Given the description of an element on the screen output the (x, y) to click on. 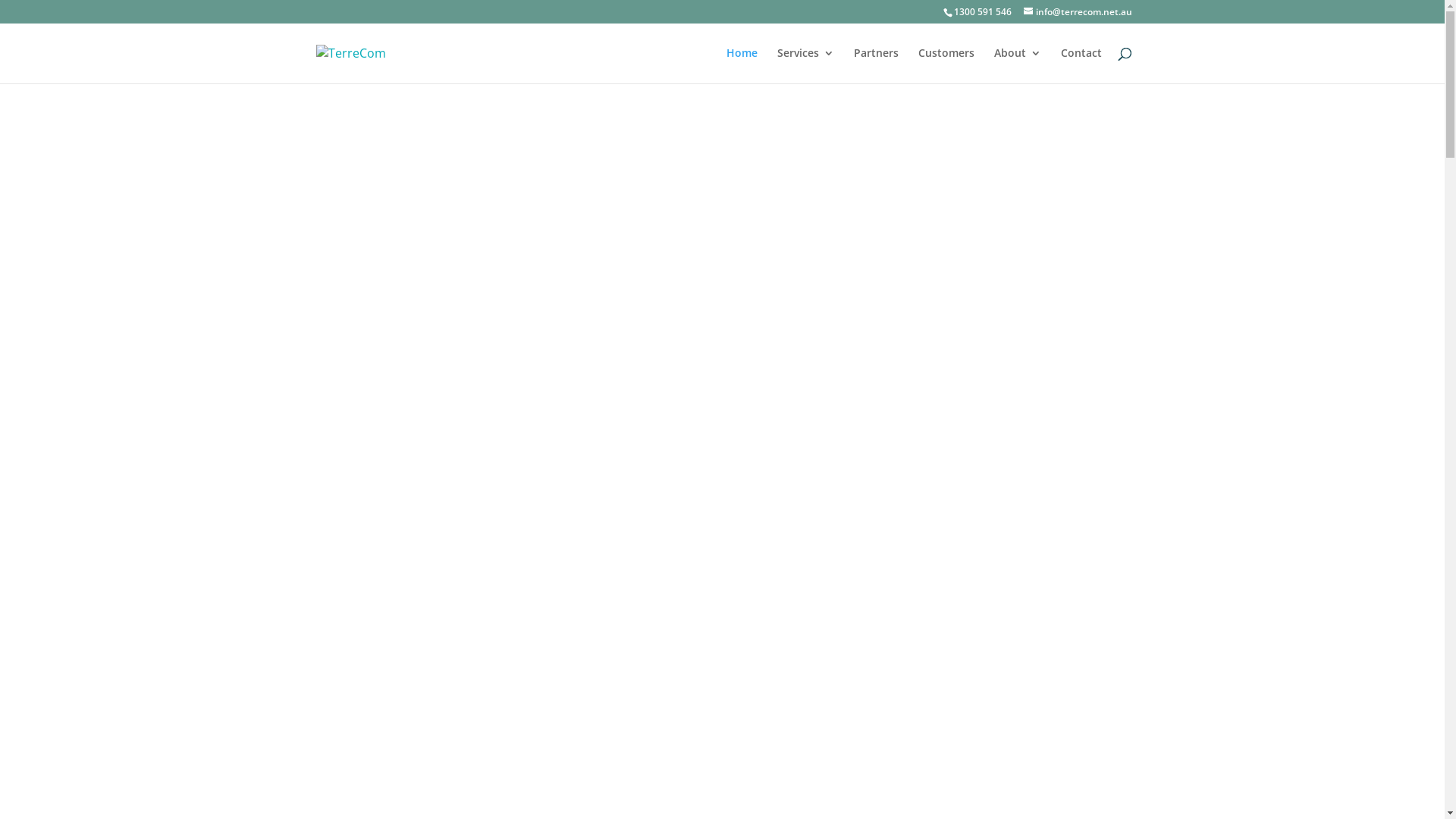
Contact Element type: text (1080, 65)
info@terrecom.net.au Element type: text (1077, 11)
Services Element type: text (804, 65)
About Element type: text (1016, 65)
Partners Element type: text (875, 65)
Home Element type: text (741, 65)
Customers Element type: text (945, 65)
